Given the description of an element on the screen output the (x, y) to click on. 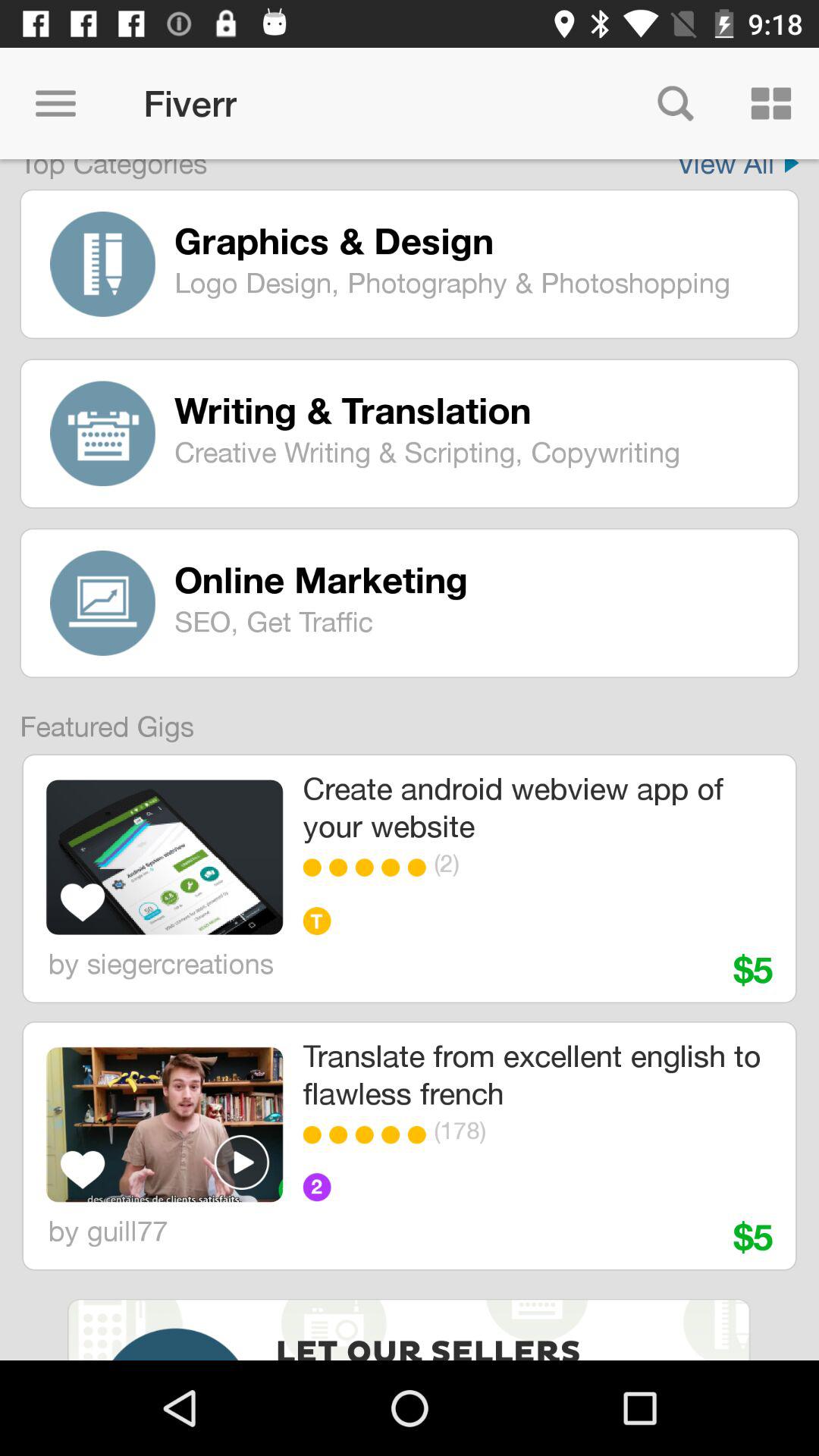
select the item to the right of top categories (738, 169)
